Given the description of an element on the screen output the (x, y) to click on. 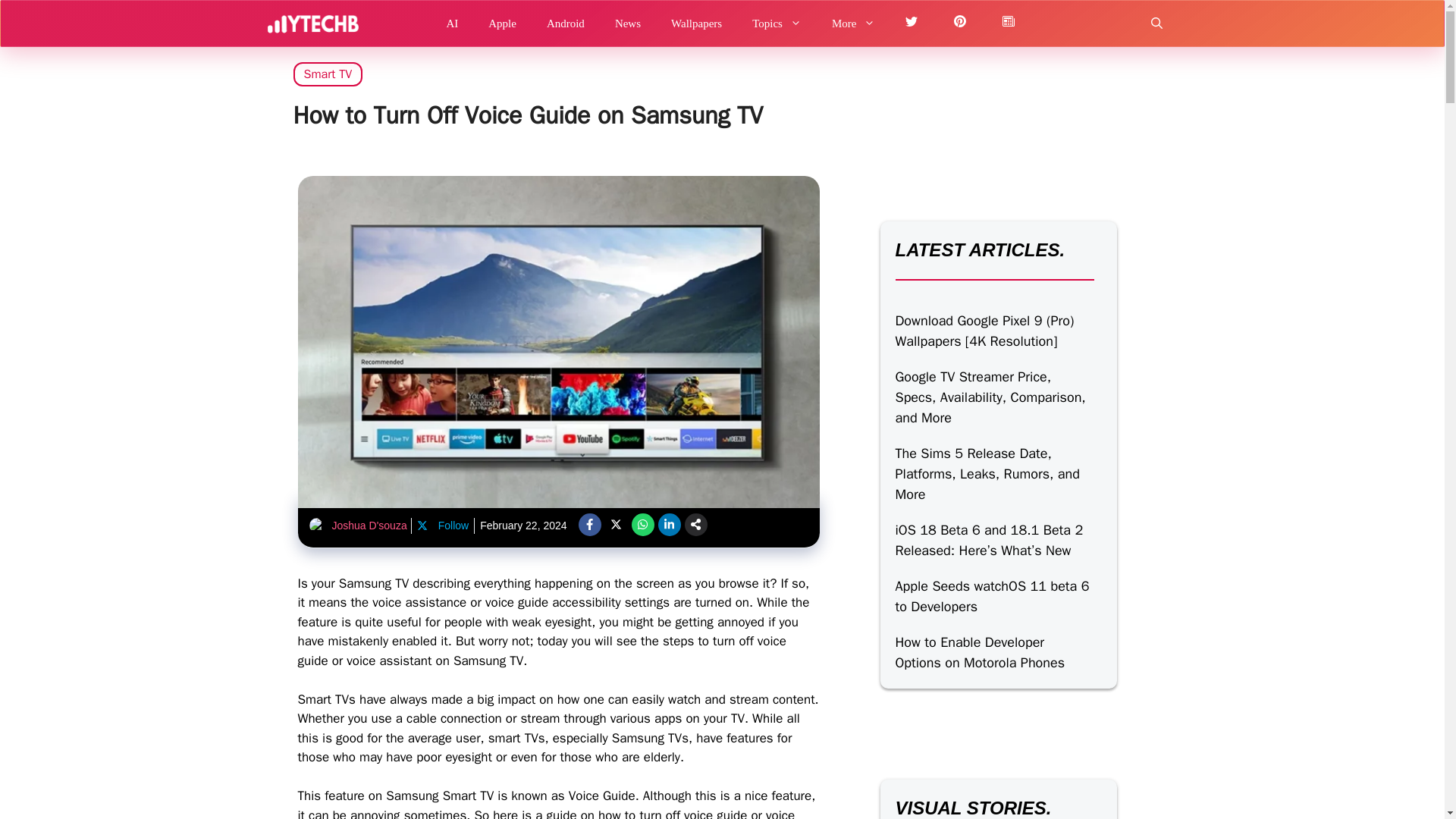
AI (451, 22)
Smart TV (327, 73)
YTECHB (312, 22)
Apple (502, 22)
Joshua D'souza (369, 525)
Topics (776, 22)
Follow (442, 525)
Android (565, 22)
News (627, 22)
Wallpapers (696, 22)
